Given the description of an element on the screen output the (x, y) to click on. 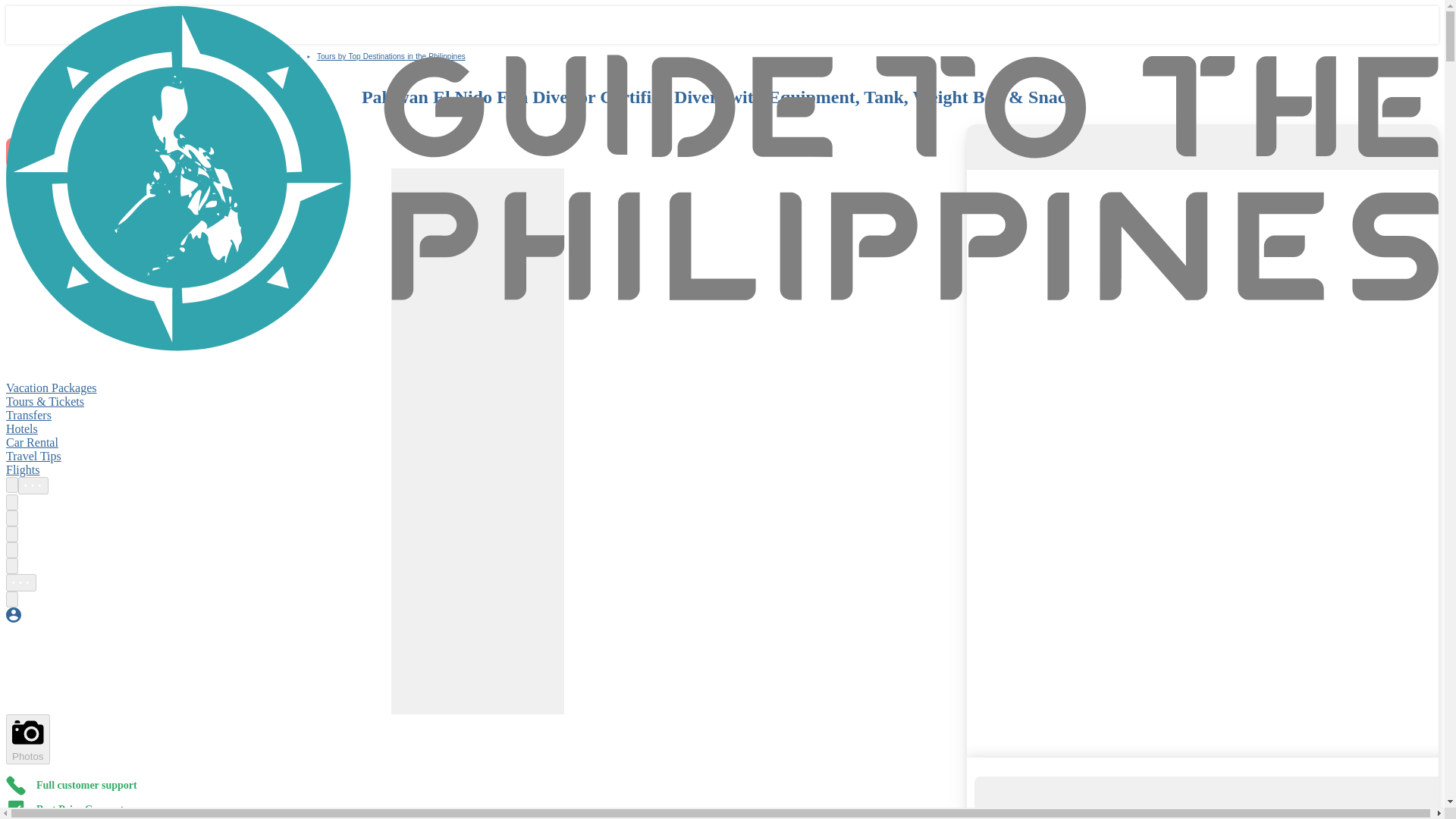
Flights (22, 469)
Hotels (21, 428)
Tours by Top Destinations in the Philippines (391, 56)
Top tours in the Philippines (262, 56)
Travel Tips (33, 455)
Vacation Packages (51, 387)
Transfers (27, 414)
Guide to the Philippines (195, 56)
Car Rental (31, 441)
